Given the description of an element on the screen output the (x, y) to click on. 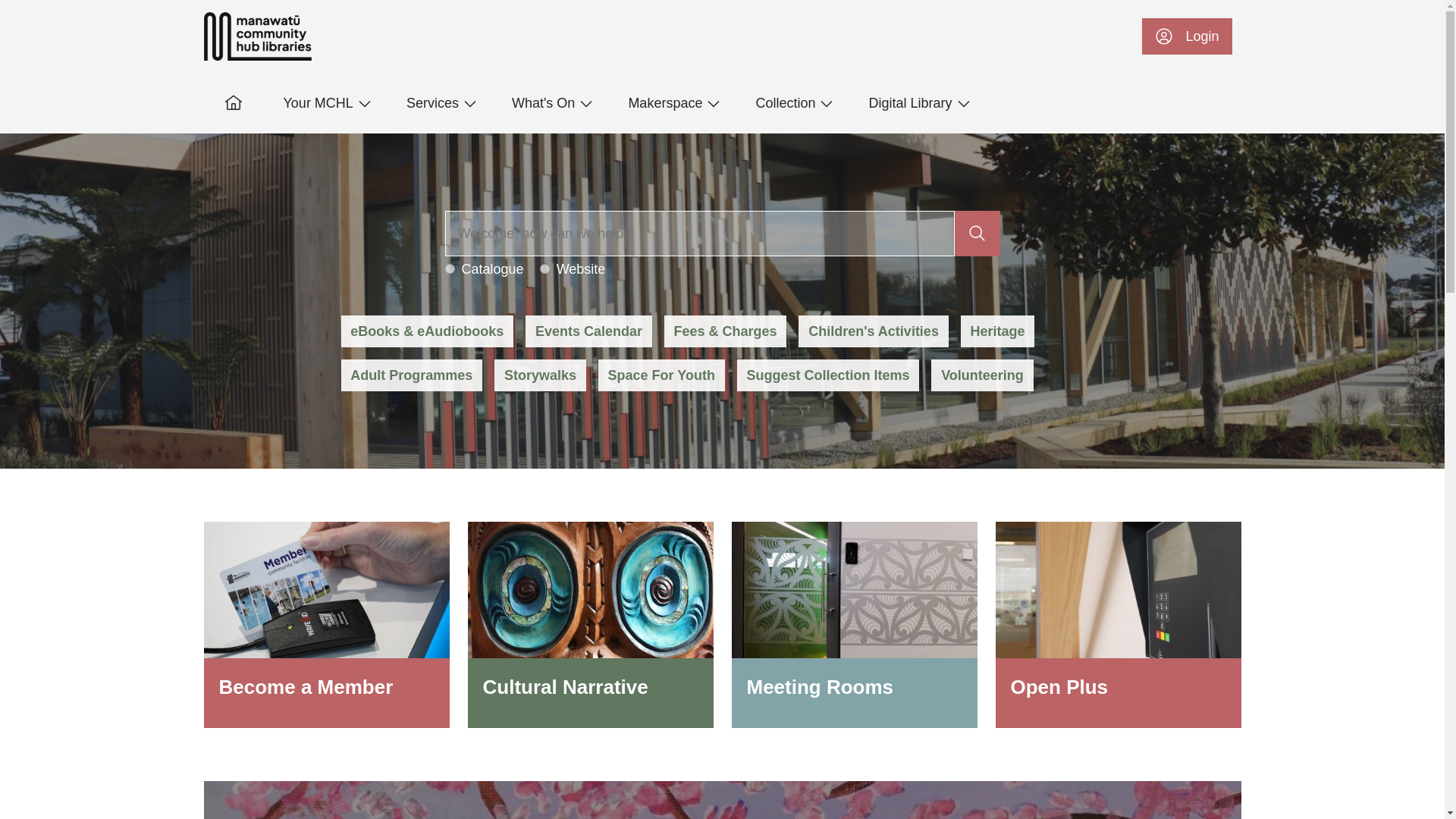
Login (1186, 36)
Home (257, 36)
catalogue (449, 268)
website (545, 268)
Search (699, 233)
